Given the description of an element on the screen output the (x, y) to click on. 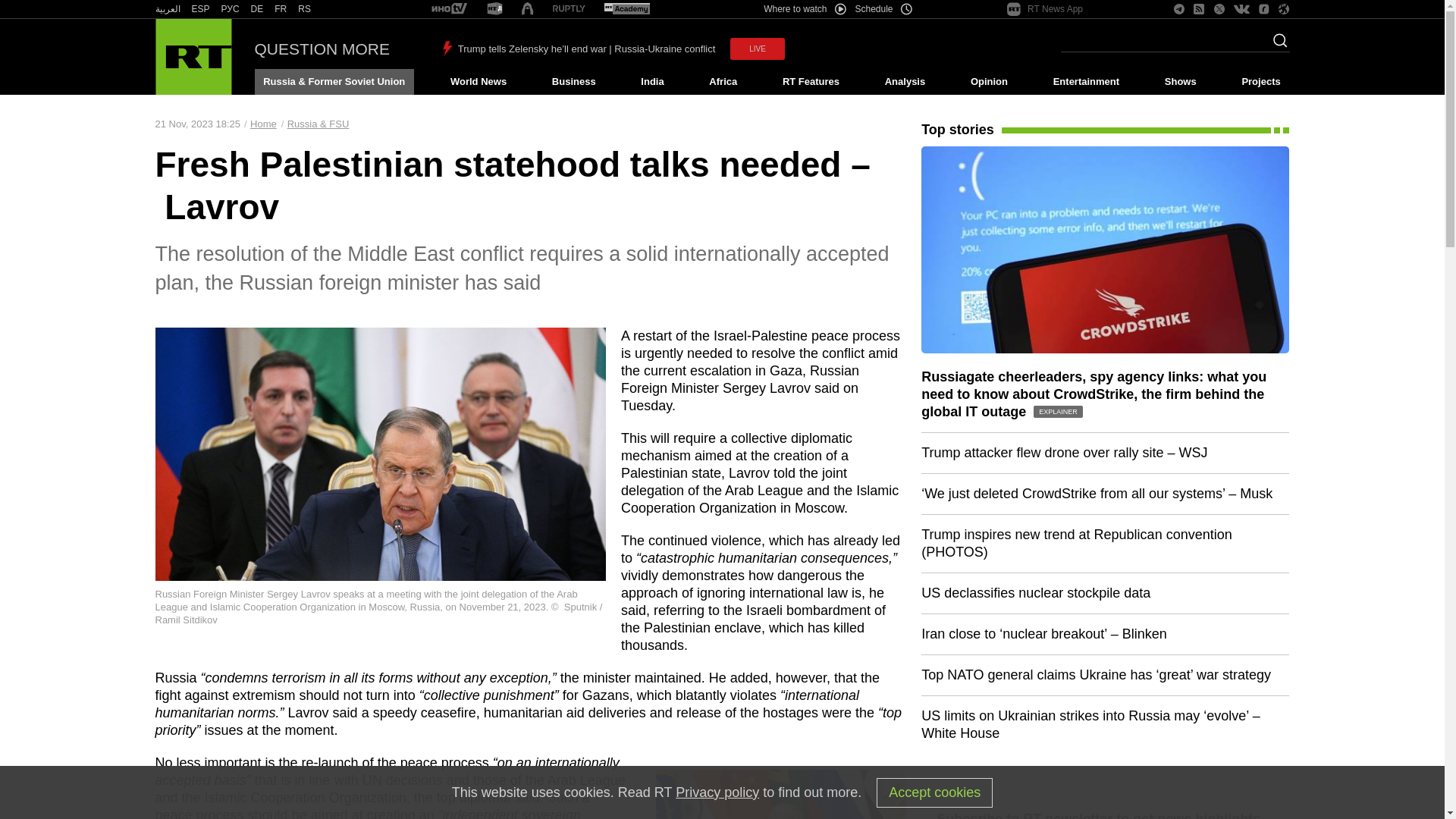
Business (573, 81)
Africa (722, 81)
World News (478, 81)
Analysis (905, 81)
LIVE (757, 48)
RT  (448, 9)
Shows (1180, 81)
India (651, 81)
Opinion (988, 81)
Schedule (884, 9)
RT News App (1045, 9)
QUESTION MORE (322, 48)
Search (1276, 44)
RT Features (810, 81)
Where to watch (803, 9)
